Given the description of an element on the screen output the (x, y) to click on. 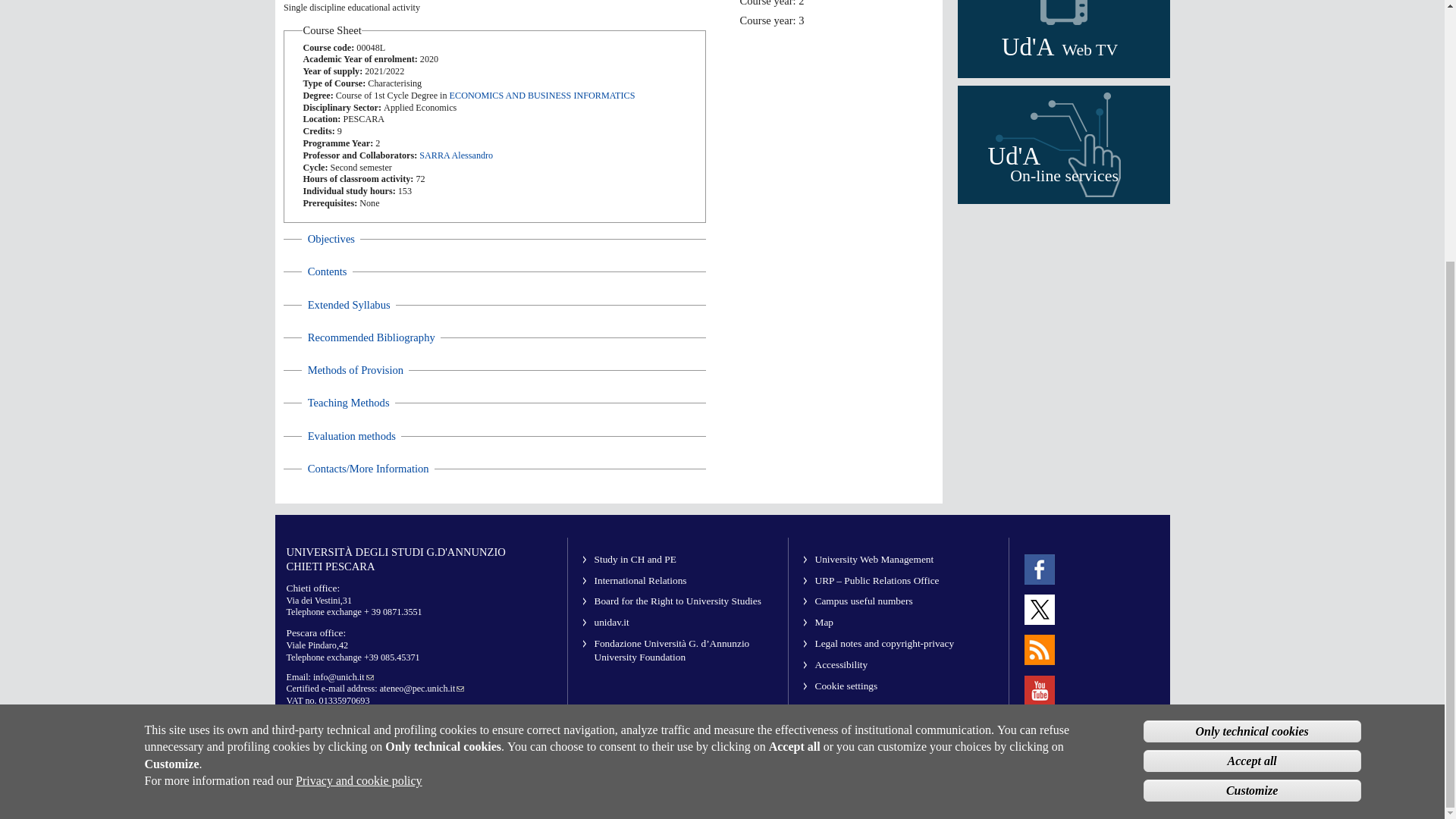
ECONOMICS AND BUSINESS INFORMATICS (541, 95)
SARRA Alessandro (351, 435)
